Given the description of an element on the screen output the (x, y) to click on. 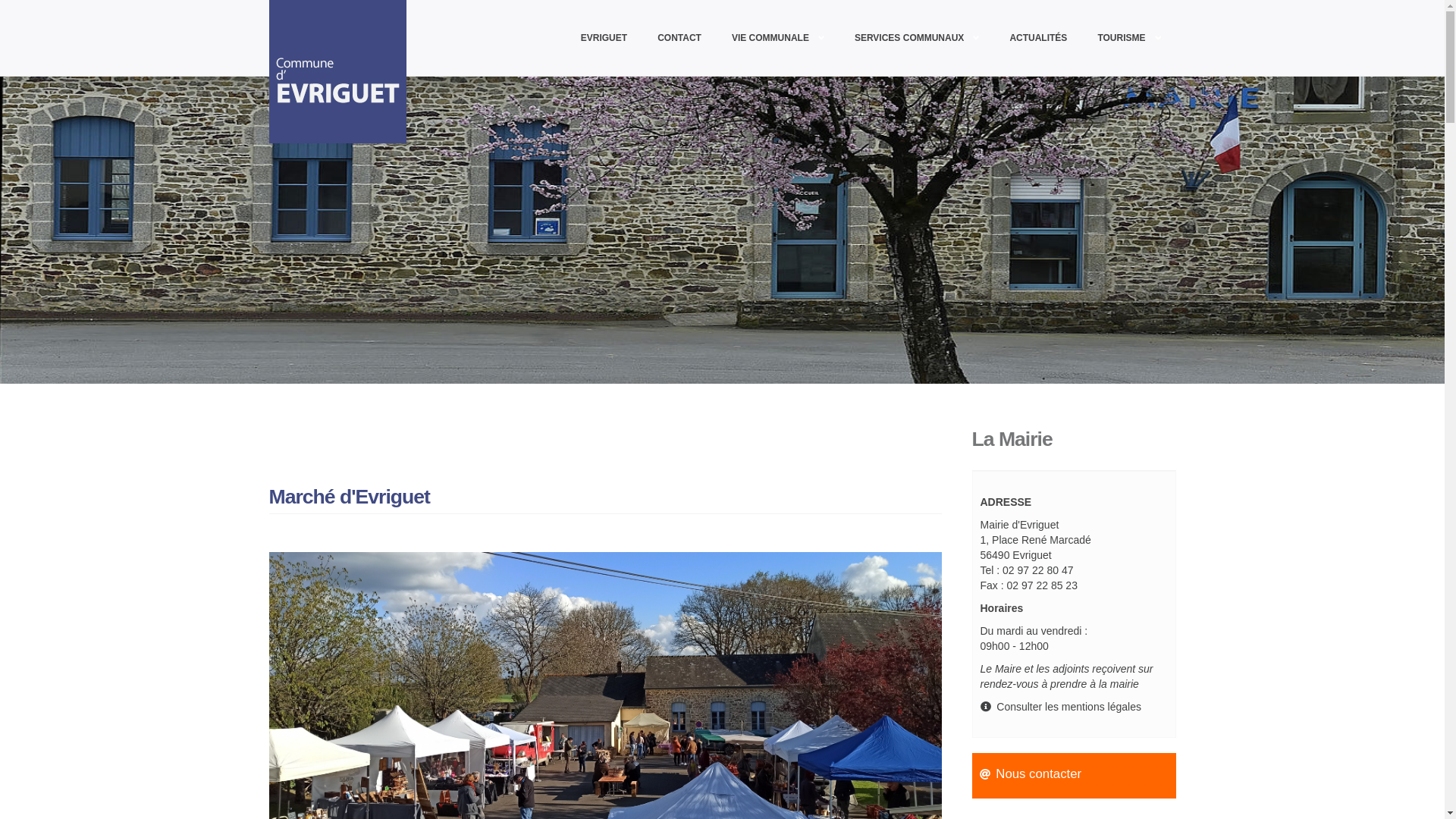
Commune d'Evriguet Element type: hover (345, 71)
TOURISME Element type: text (1128, 37)
EVRIGUET Element type: text (603, 37)
SERVICES COMMUNAUX Element type: text (916, 37)
CONTACT Element type: text (679, 37)
VIE COMMUNALE Element type: text (777, 37)
Nous contacter Element type: text (1038, 773)
